Given the description of an element on the screen output the (x, y) to click on. 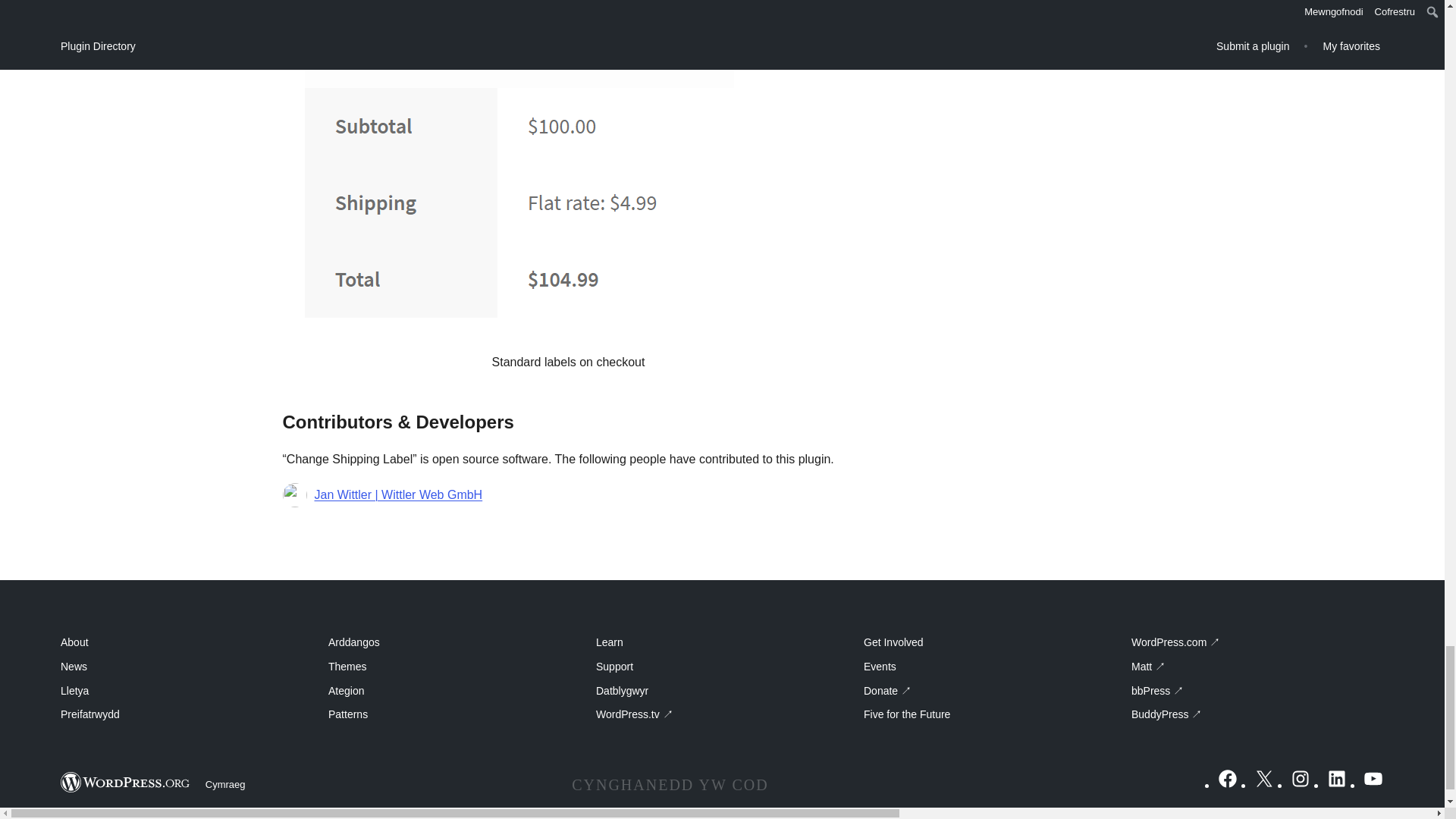
WordPress.org (125, 782)
